Given the description of an element on the screen output the (x, y) to click on. 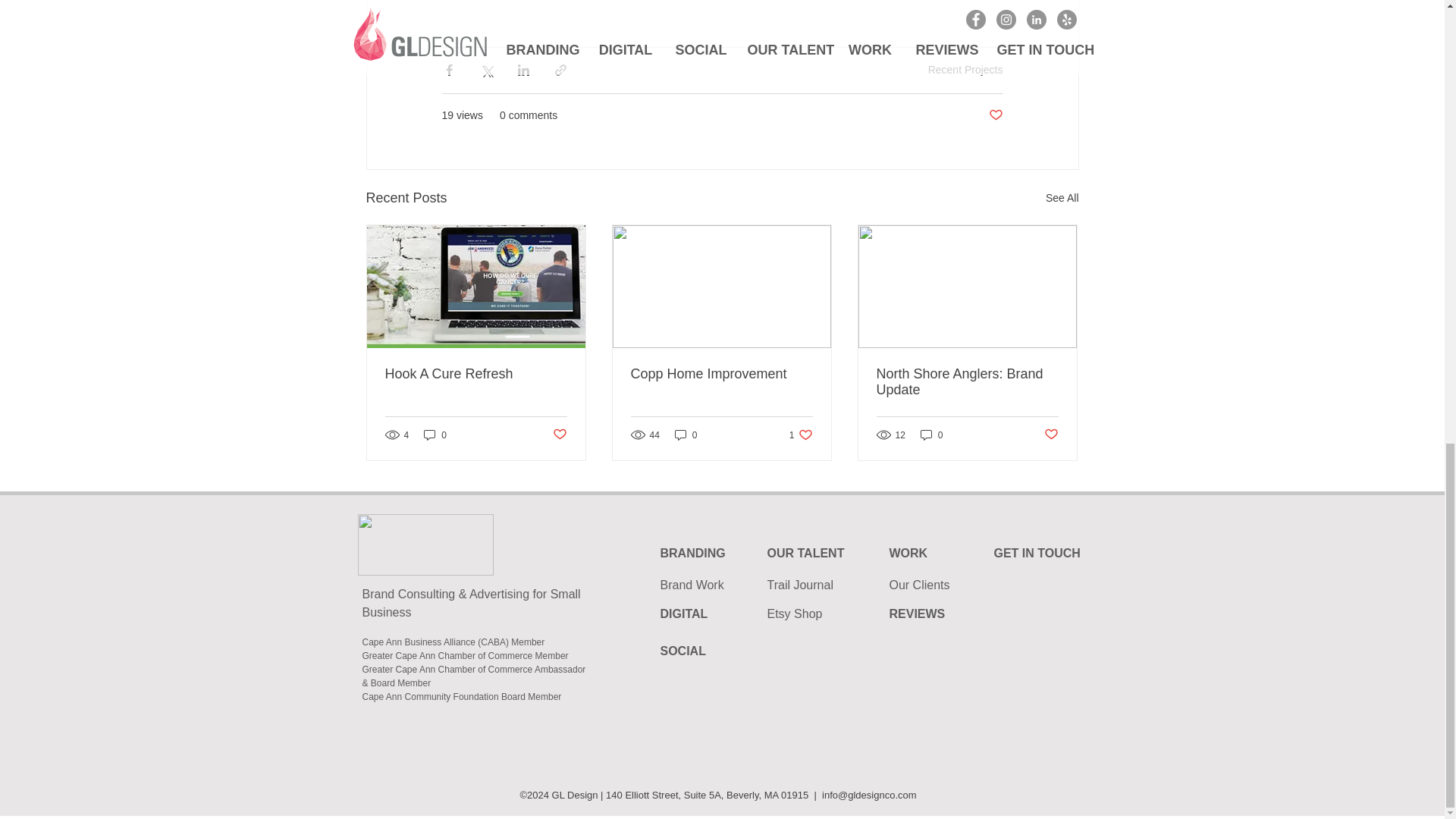
Post not marked as liked (995, 115)
0 (435, 434)
Recent Projects (965, 69)
Copp Home Improvement (721, 374)
Post not marked as liked (1050, 434)
Greater Cape (390, 655)
0 (685, 434)
North Shore Anglers: Brand Update (967, 382)
Post not marked as liked (558, 434)
See All (1061, 198)
Hook A Cure Refresh (476, 374)
0 (800, 434)
